Given the description of an element on the screen output the (x, y) to click on. 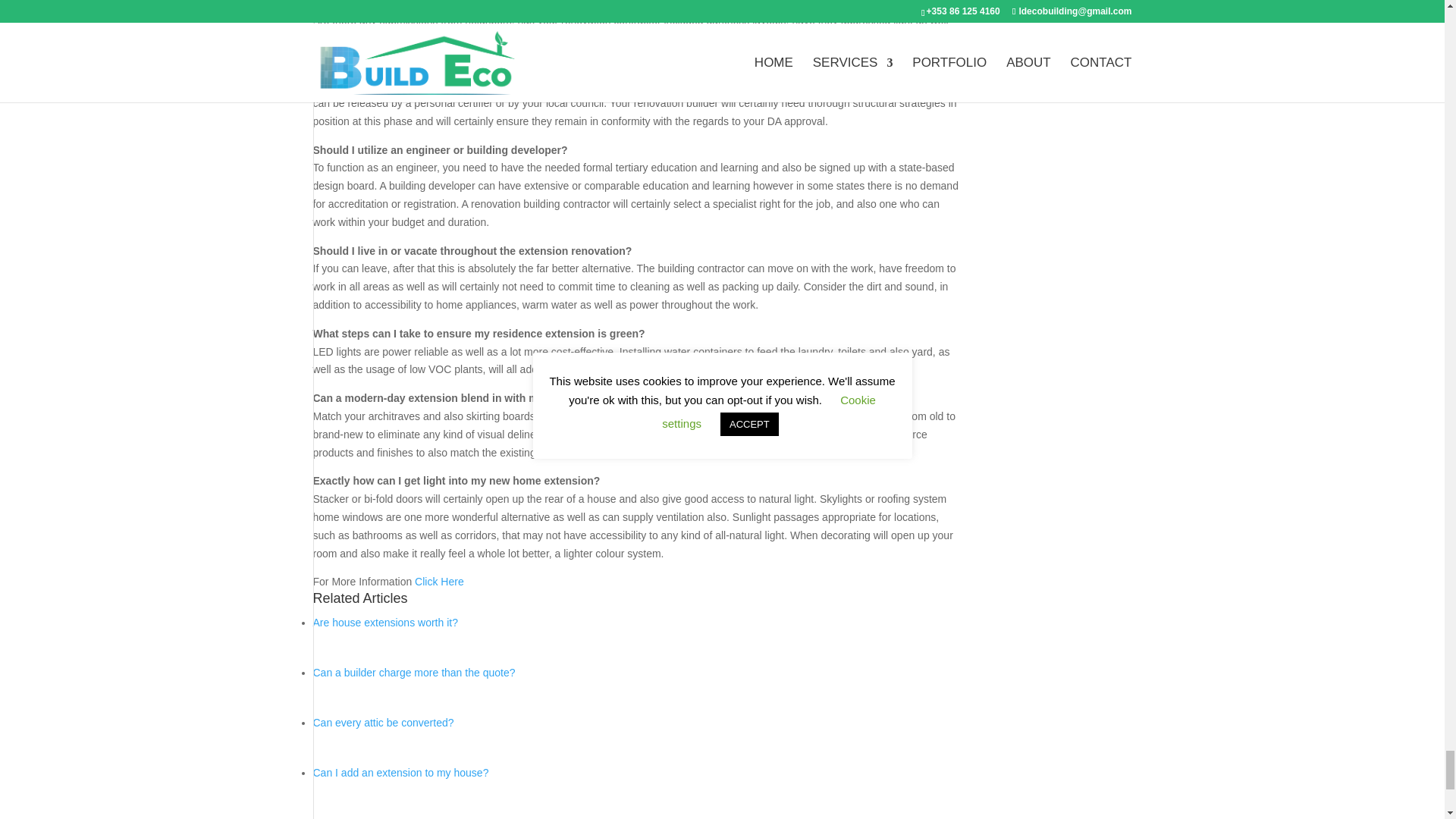
Can a builder charge more than the quote? (414, 672)
Can every attic be converted? (382, 722)
Click Here (439, 581)
Can every attic be converted? (382, 722)
Are house extensions worth it? (385, 622)
Can I add an extension to my house? (400, 772)
Can a builder charge more than the quote? (414, 672)
Are house extensions worth it? (385, 622)
